Given the description of an element on the screen output the (x, y) to click on. 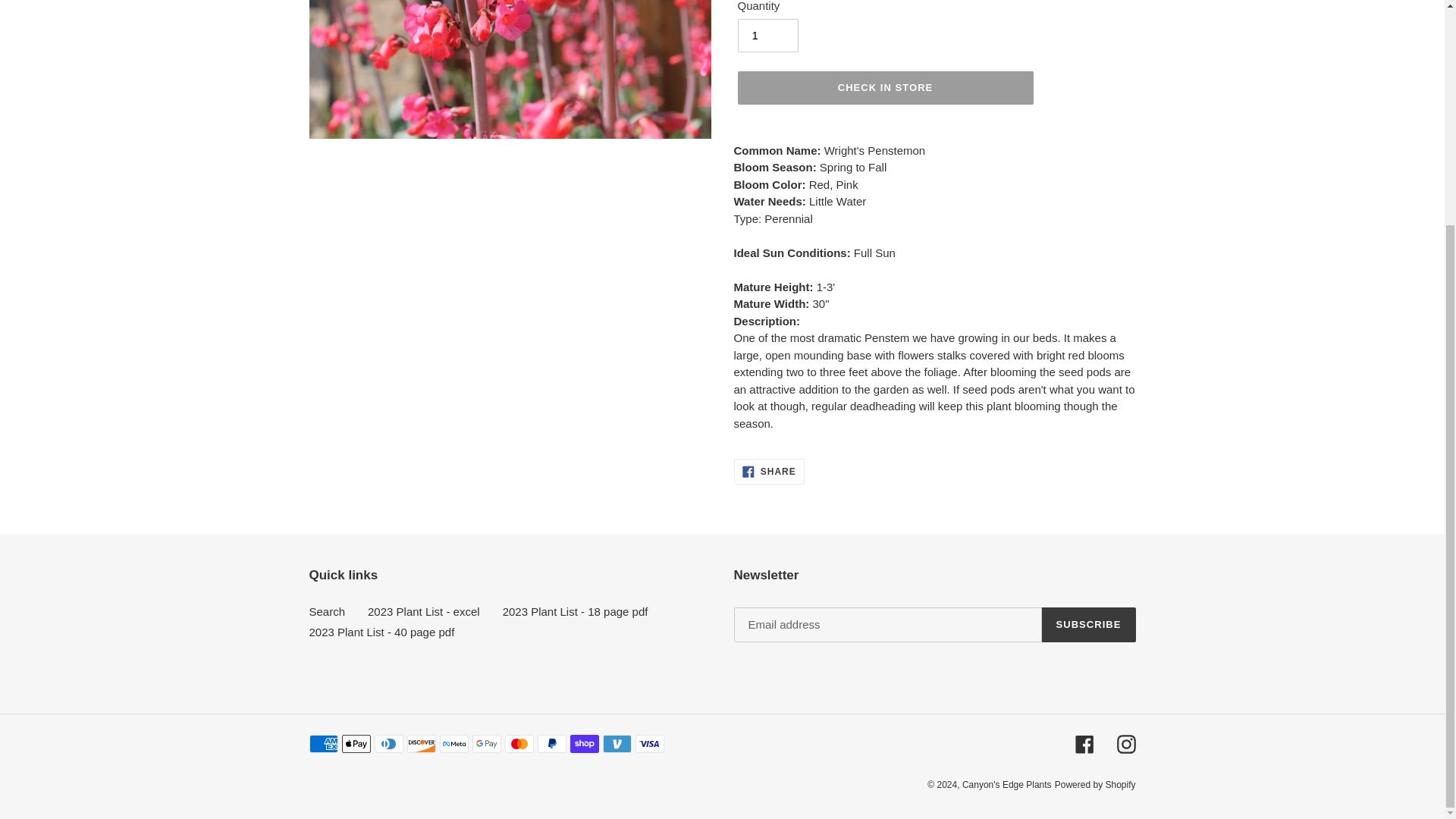
1 (766, 35)
